Given the description of an element on the screen output the (x, y) to click on. 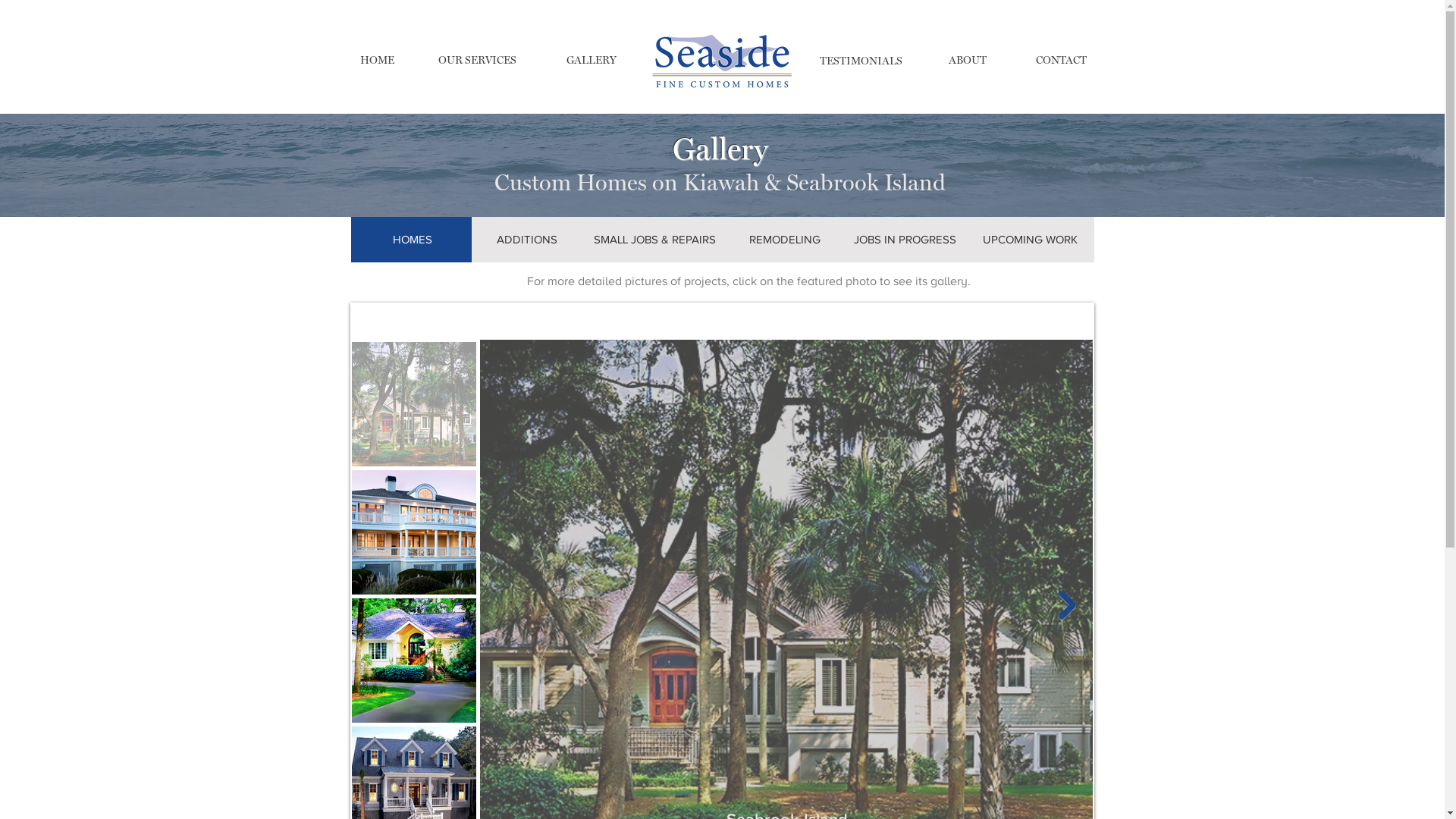
GALLERY Element type: text (590, 60)
ADDITIONS Element type: text (527, 239)
HOMES Element type: text (411, 239)
ABOUT Element type: text (966, 60)
REMODELING Element type: text (784, 239)
OUR SERVICES Element type: text (477, 60)
CONTACT Element type: text (1060, 60)
JOBS IN PROGRESS Element type: text (904, 239)
SMALL JOBS & REPAIRS Element type: text (654, 239)
UPCOMING WORK Element type: text (1029, 239)
TESTIMONIALS Element type: text (860, 61)
HOME Element type: text (376, 60)
